Given the description of an element on the screen output the (x, y) to click on. 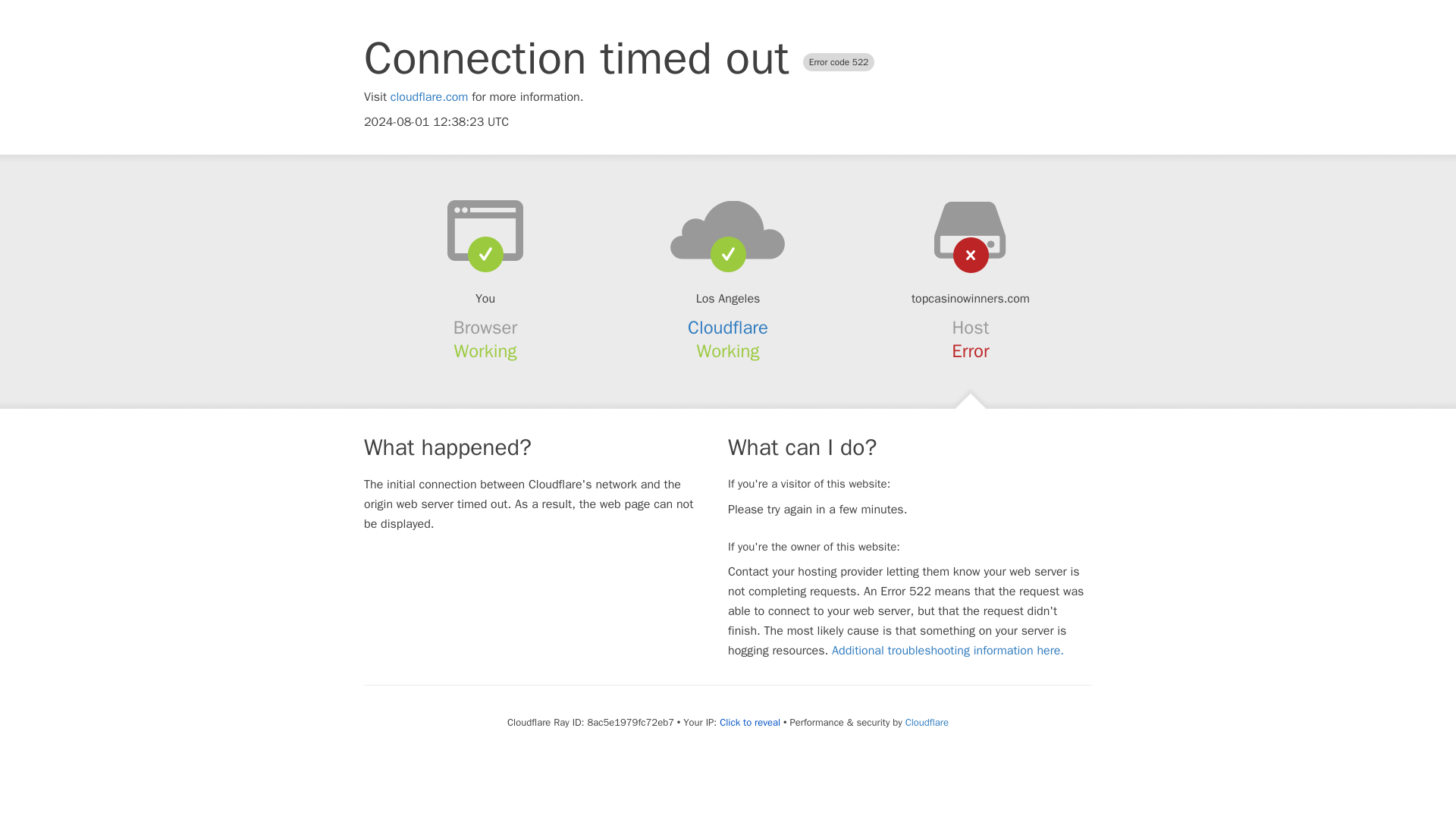
Cloudflare (927, 721)
Cloudflare (727, 327)
Additional troubleshooting information here. (947, 650)
cloudflare.com (429, 96)
Click to reveal (749, 722)
